Given the description of an element on the screen output the (x, y) to click on. 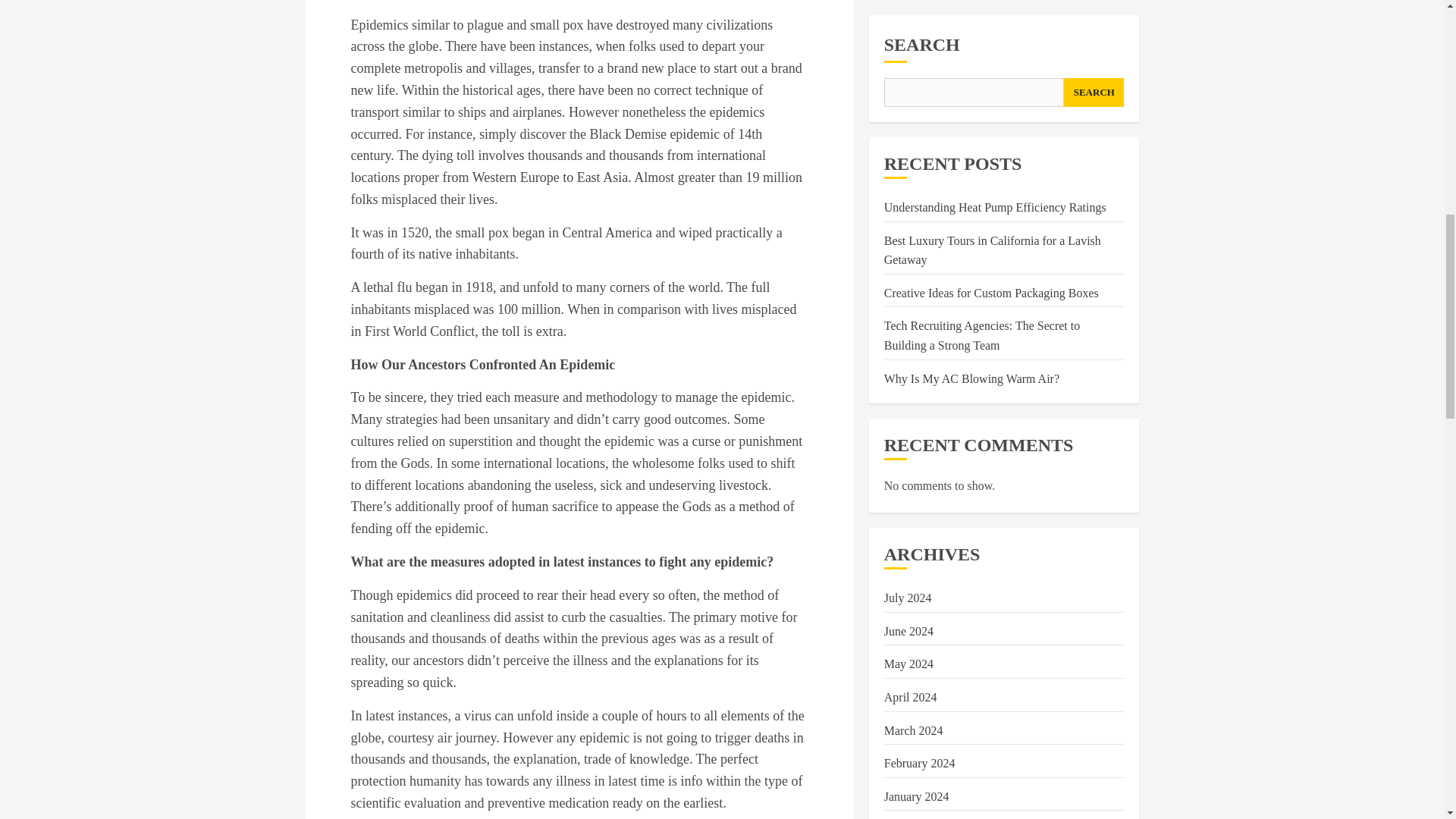
April 2024 (910, 108)
January 2024 (916, 207)
June 2024 (908, 42)
March 2024 (913, 141)
October 2023 (916, 306)
December 2023 (921, 240)
July 2024 (907, 8)
February 2024 (919, 173)
September 2023 (922, 339)
November 2023 (922, 273)
August 2023 (914, 373)
May 2024 (908, 74)
